Given the description of an element on the screen output the (x, y) to click on. 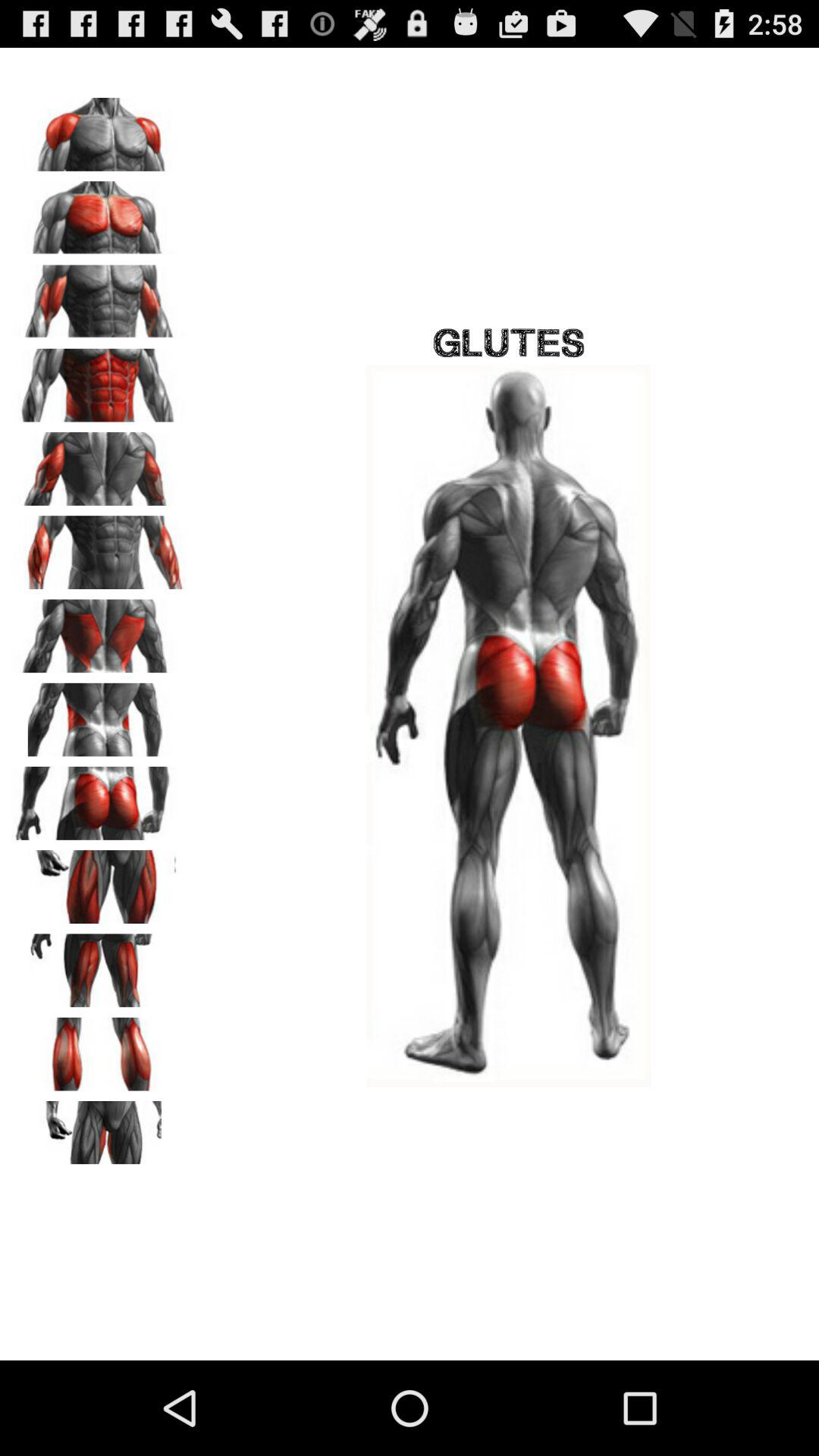
expand pic (99, 881)
